Given the description of an element on the screen output the (x, y) to click on. 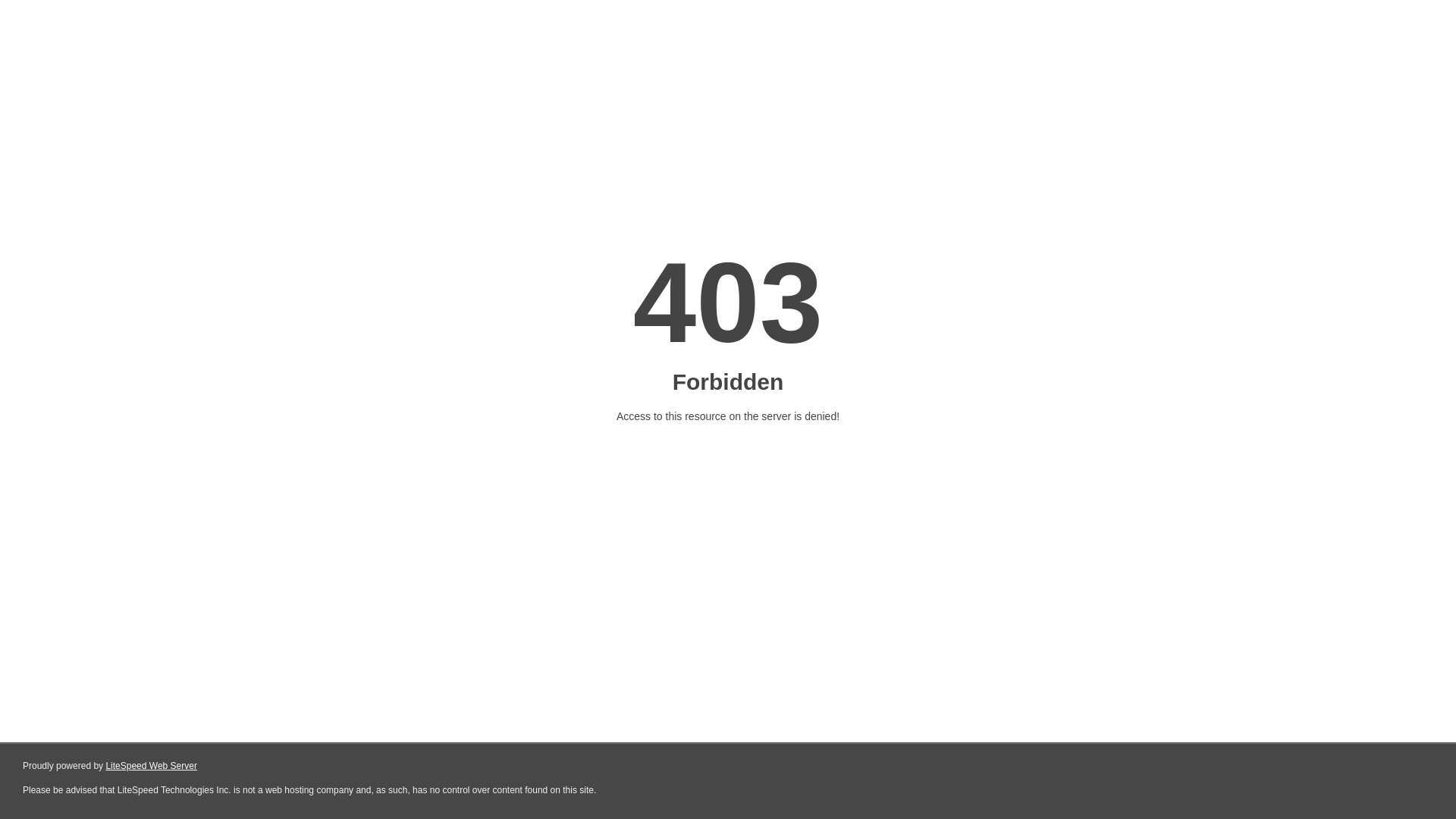
LiteSpeed Web Server Element type: text (151, 765)
